Given the description of an element on the screen output the (x, y) to click on. 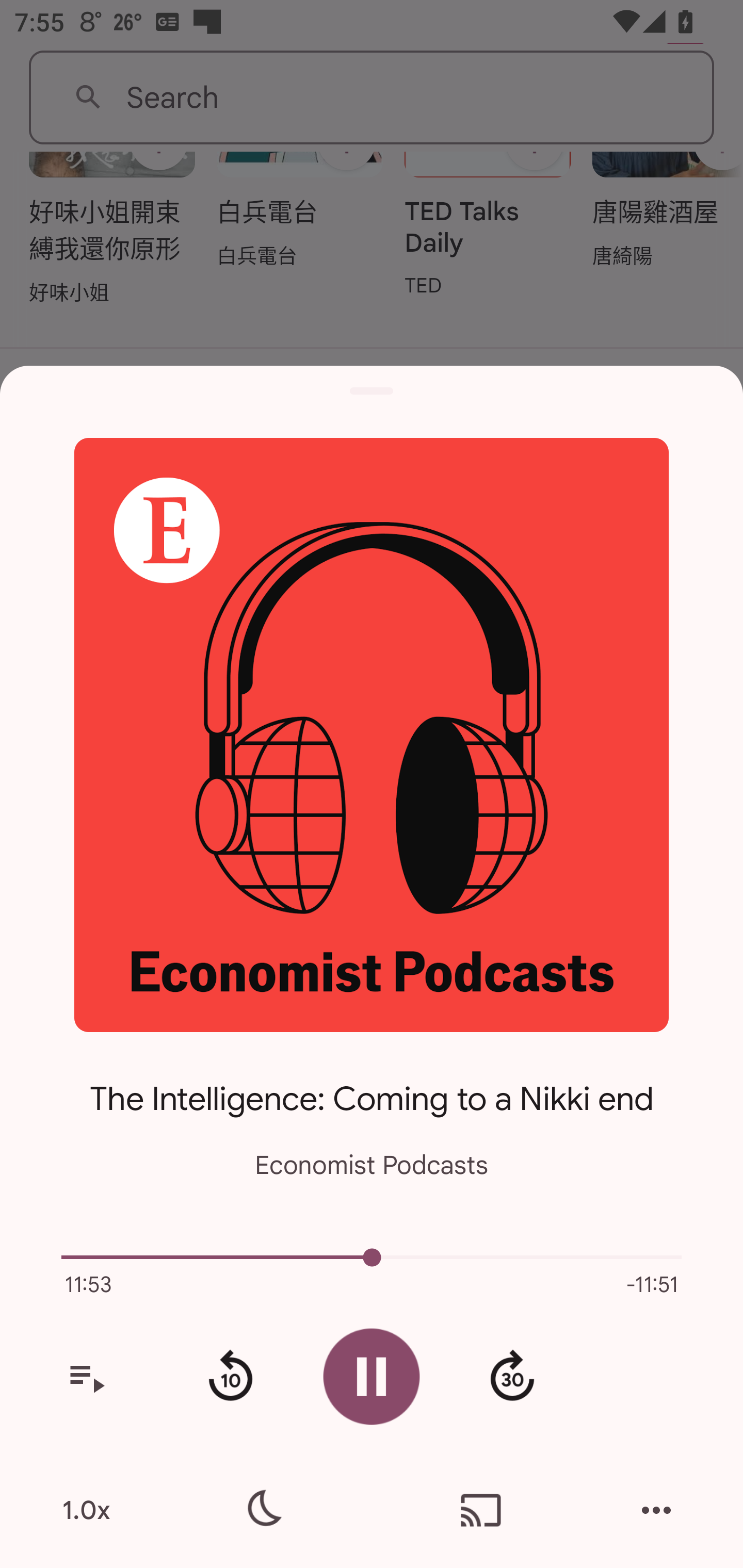
Open the show page for Economist Podcasts (371, 734)
5010.0 Current episode playback (371, 1257)
Pause (371, 1376)
View your queue (86, 1376)
Rewind 10 seconds (230, 1376)
Fast forward 30 second (511, 1376)
1.0x Playback speed is 1.0. (86, 1510)
Sleep timer settings (261, 1510)
Cast. Disconnected (480, 1510)
More actions (655, 1510)
